Given the description of an element on the screen output the (x, y) to click on. 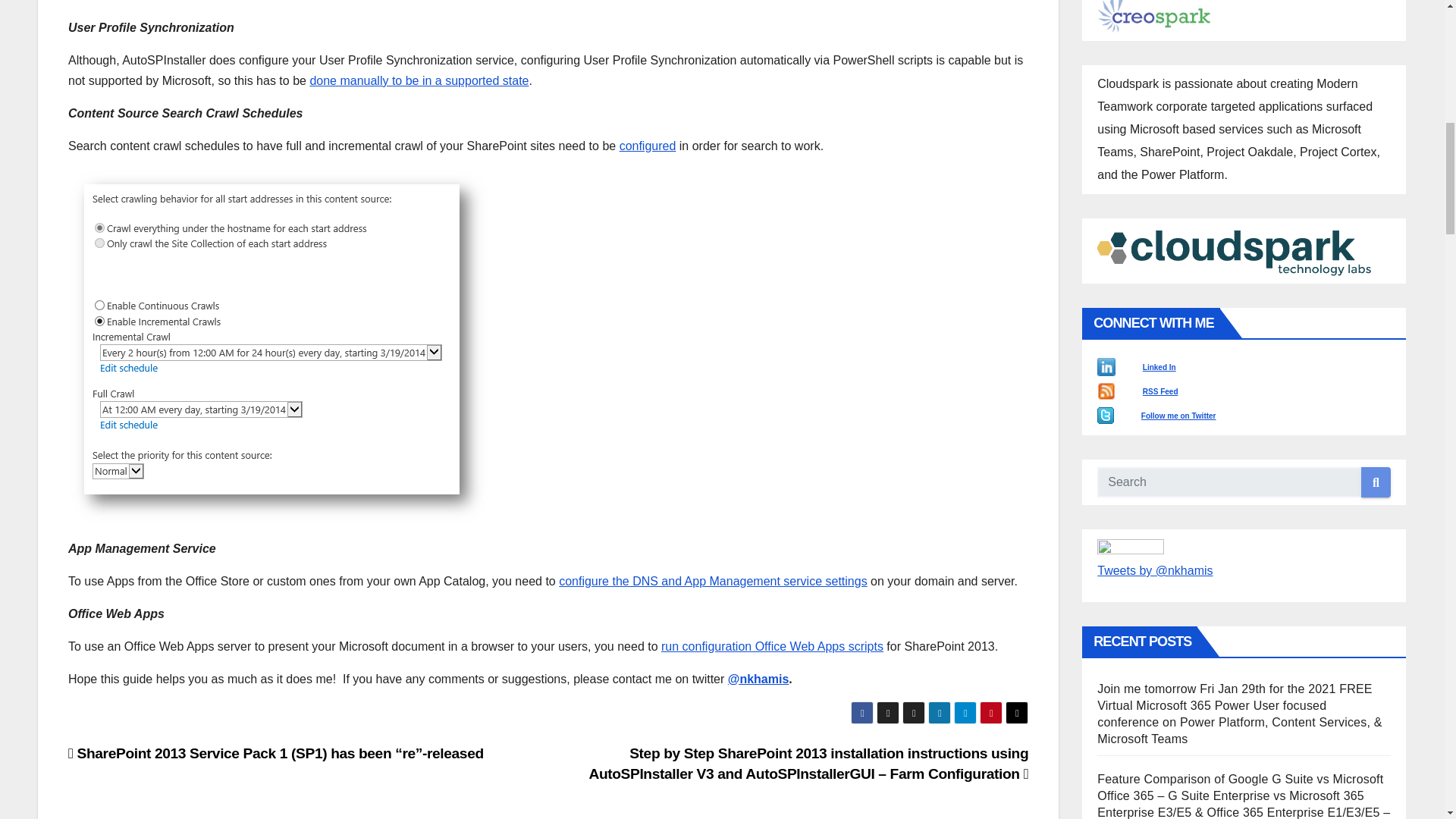
configure the DNS and App Management service settings (712, 581)
configured (648, 145)
run configuration Office Web Apps scripts (772, 645)
done manually to be in a supported state (418, 80)
